Given the description of an element on the screen output the (x, y) to click on. 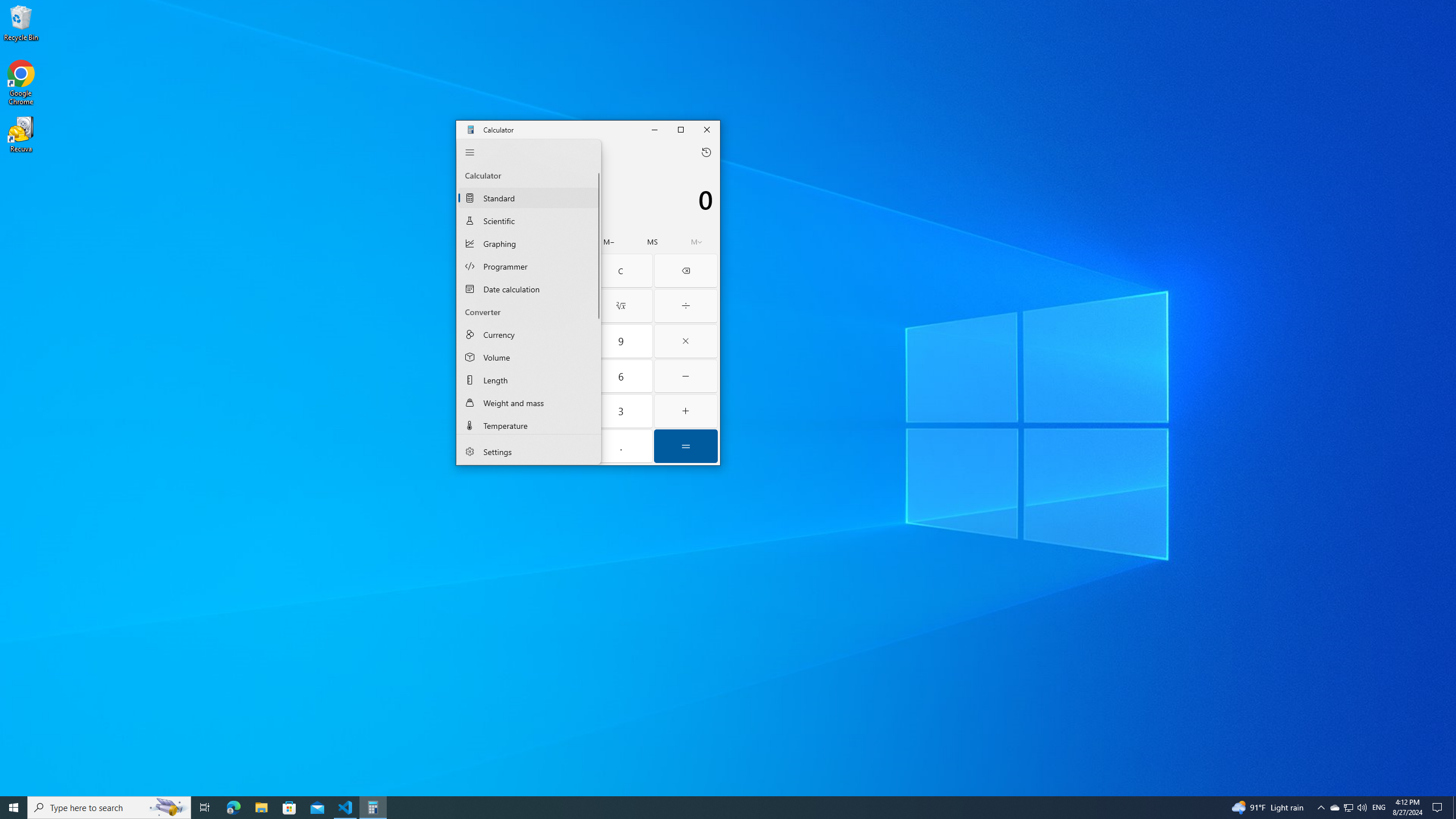
Six (620, 376)
Percent (490, 270)
Minus (685, 376)
Graphing Calculator (528, 243)
Weight and mass Converter (528, 402)
Nine (620, 341)
Seven (490, 341)
Vertical Small Decrease (597, 167)
Vertical Large Increase (597, 373)
Volume Converter (528, 357)
